Given the description of an element on the screen output the (x, y) to click on. 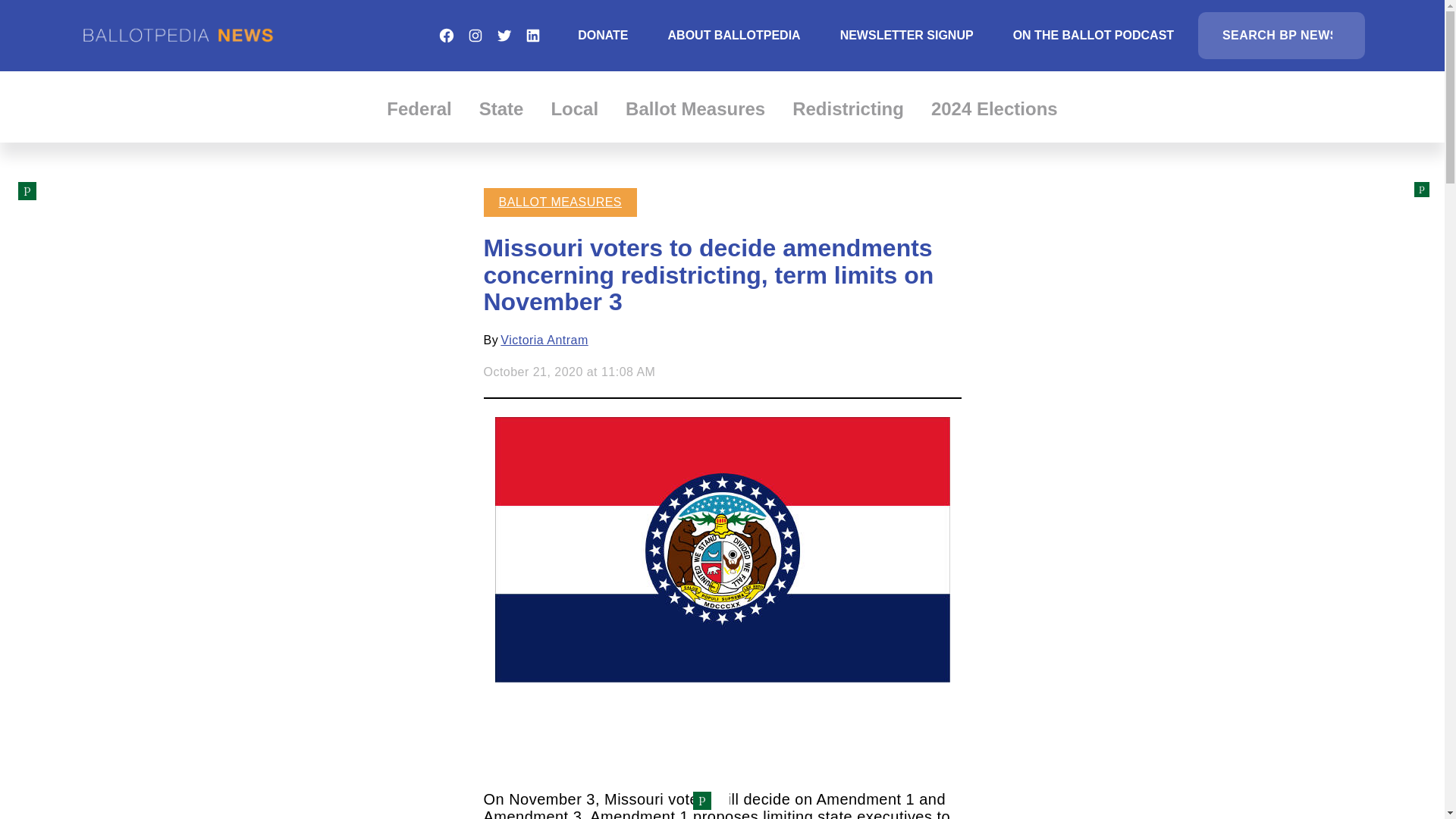
Twitter (504, 35)
ABOUT BALLOTPEDIA (734, 35)
Facebook (446, 35)
ON THE BALLOT PODCAST (1093, 35)
Instagram (475, 35)
LinkedIn (532, 35)
Victoria Antram (544, 339)
State (501, 108)
DONATE (602, 35)
Redistricting (848, 108)
2024 Elections (994, 108)
BALLOT MEASURES (561, 201)
